Given the description of an element on the screen output the (x, y) to click on. 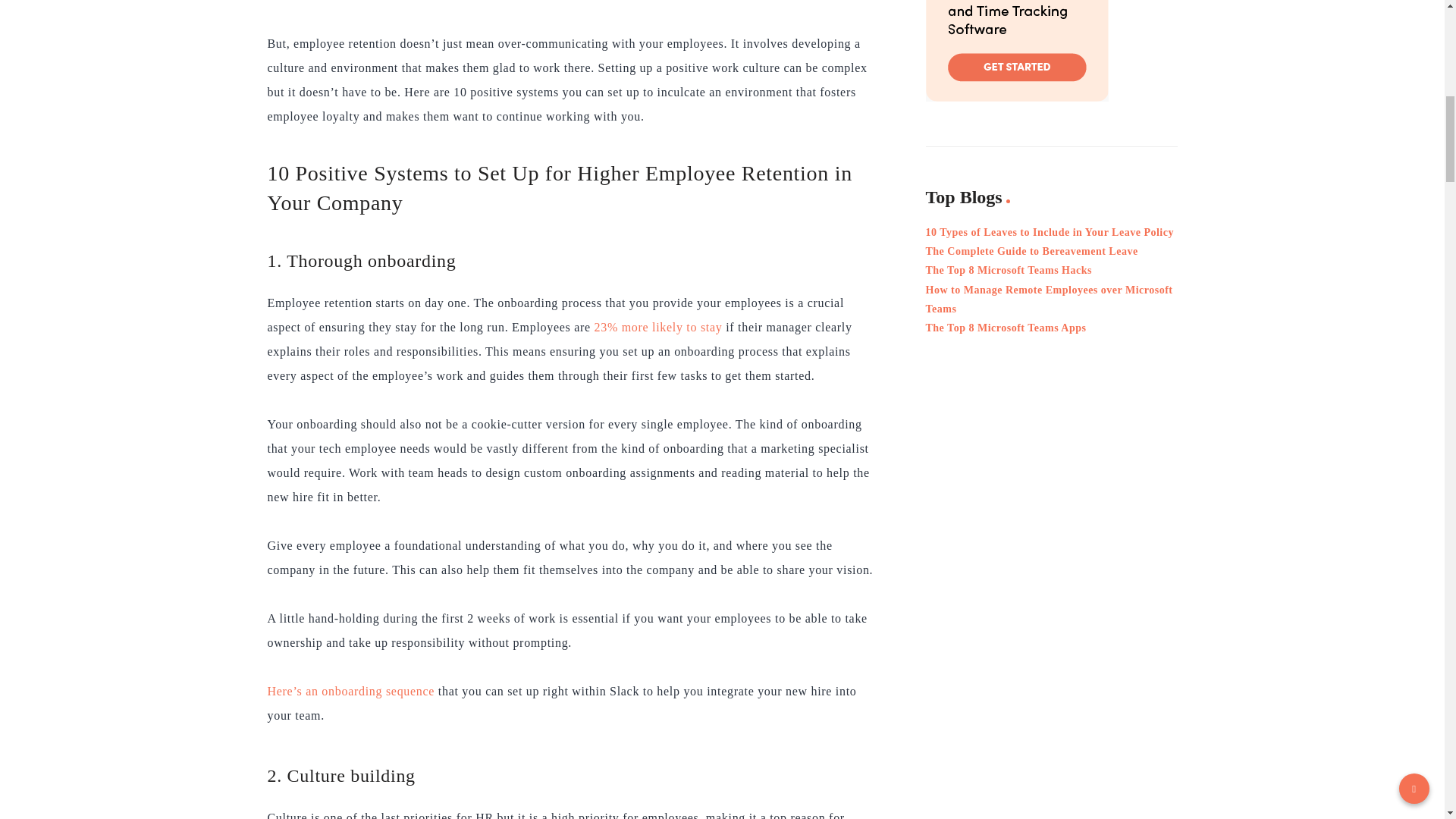
Link (1016, 50)
